Given the description of an element on the screen output the (x, y) to click on. 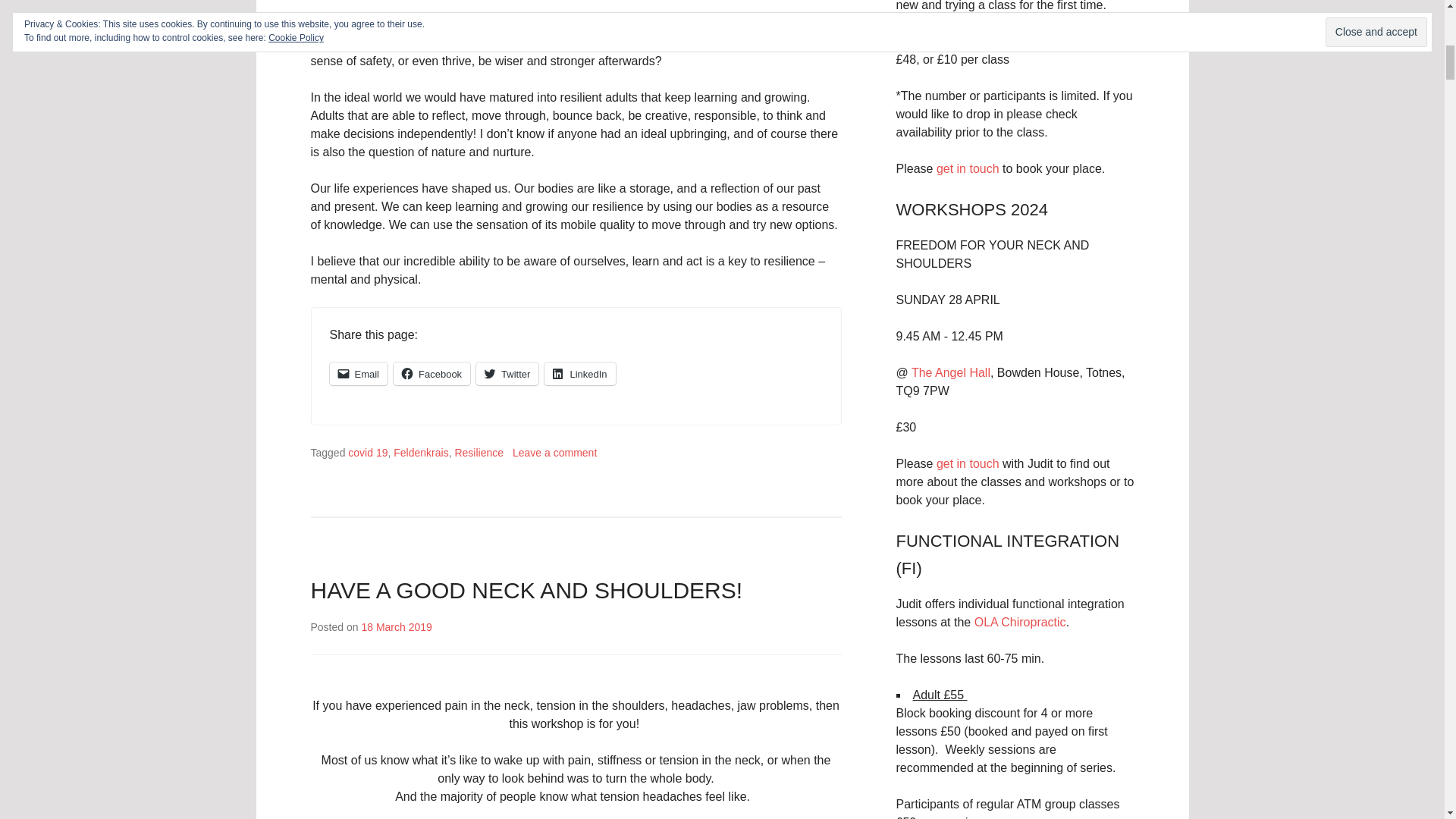
Click to email a link to a friend (358, 373)
18 March 2019 (395, 626)
Feldenkrais (420, 452)
Click to share on Twitter (507, 373)
covid 19 (367, 452)
Leave a comment (554, 452)
Click to share on Facebook (431, 373)
LinkedIn (579, 373)
Resilience (478, 452)
Twitter (507, 373)
Facebook (431, 373)
Click to share on LinkedIn (579, 373)
Email (358, 373)
HAVE A GOOD NECK AND SHOULDERS! (526, 590)
